Given the description of an element on the screen output the (x, y) to click on. 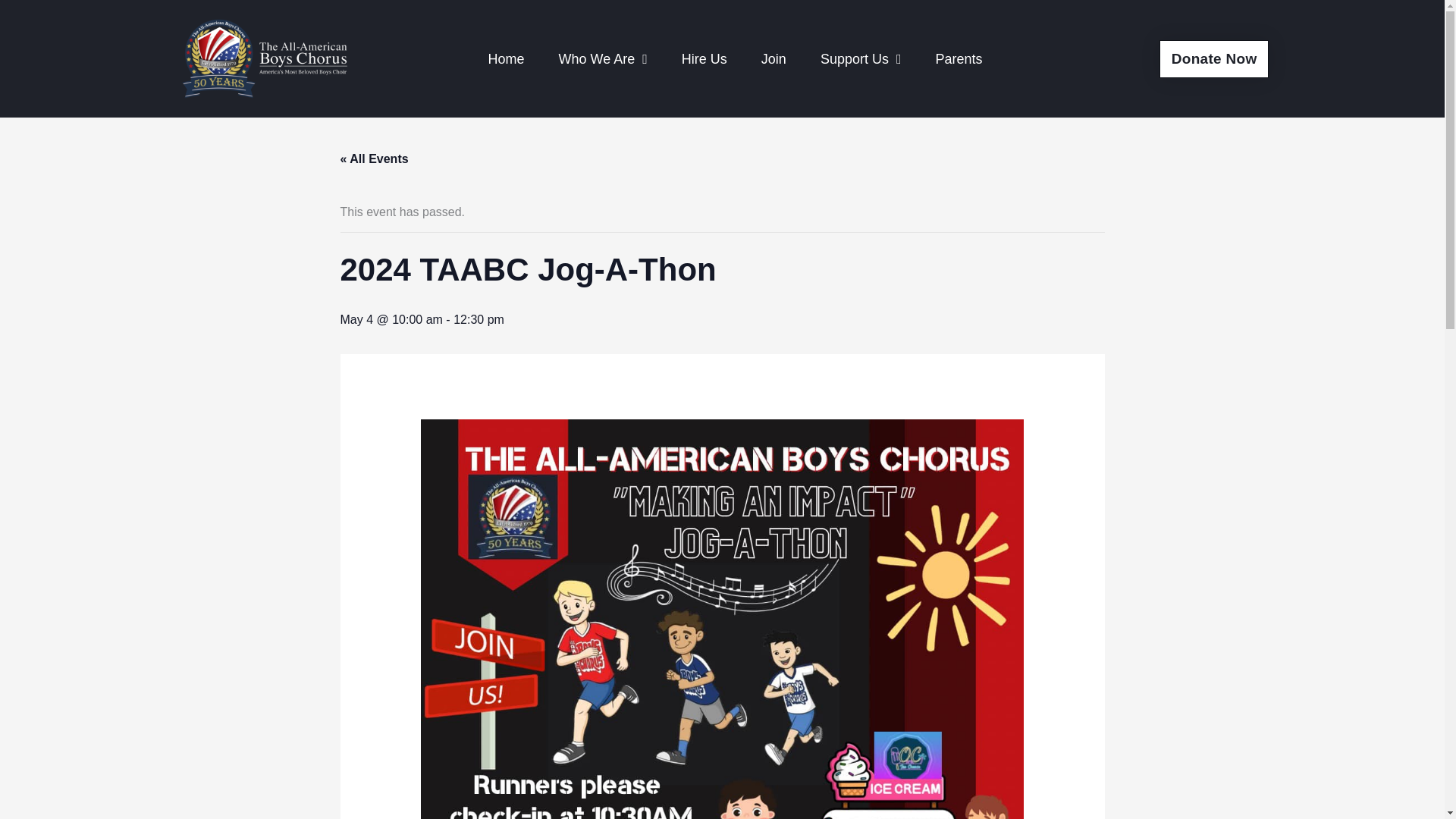
Join (773, 59)
Home (506, 59)
Donate Now (1213, 57)
Parents (958, 59)
Who We Are (602, 59)
Support Us (861, 59)
Hire Us (704, 59)
